Given the description of an element on the screen output the (x, y) to click on. 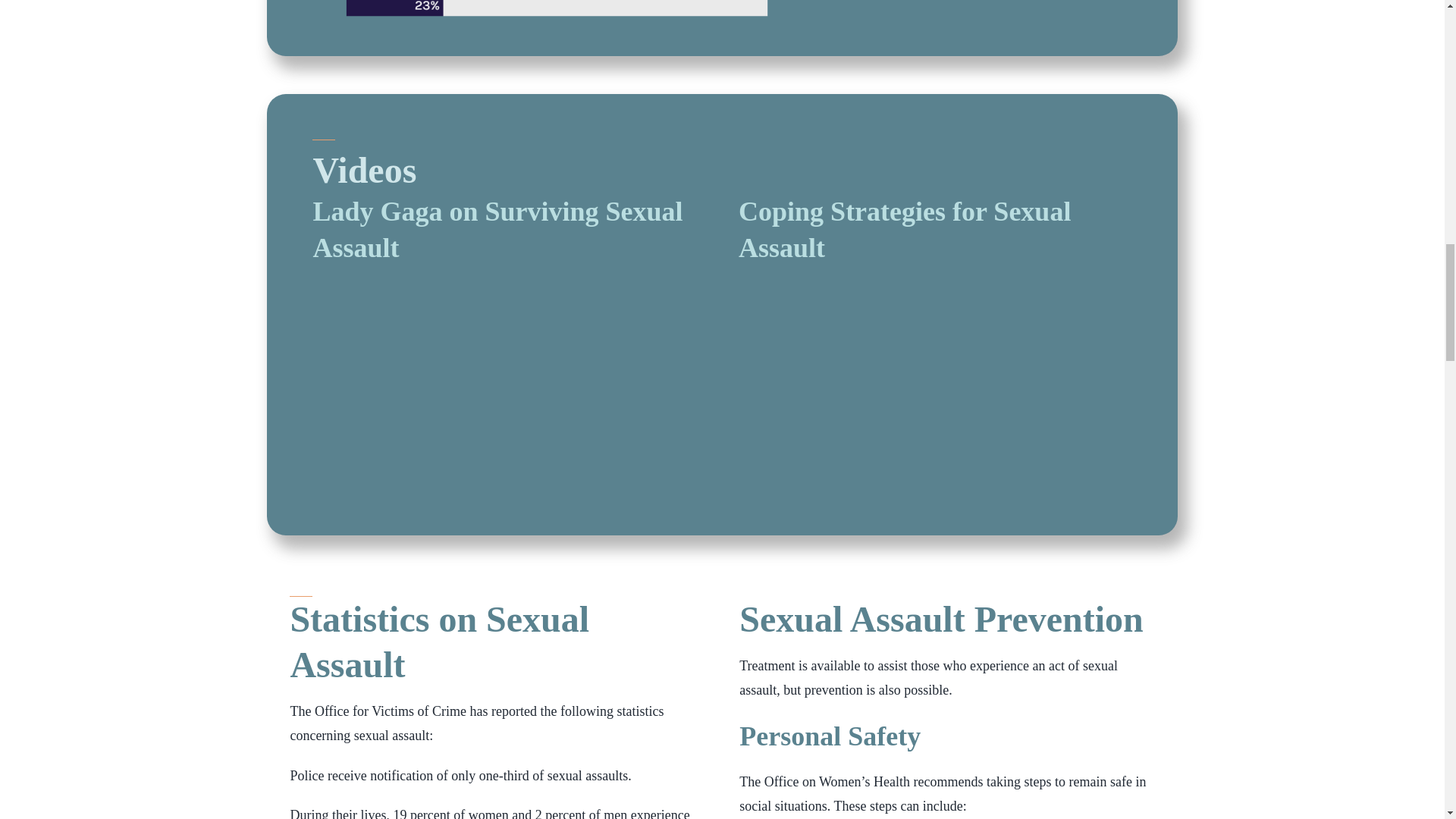
stats (556, 12)
